Given the description of an element on the screen output the (x, y) to click on. 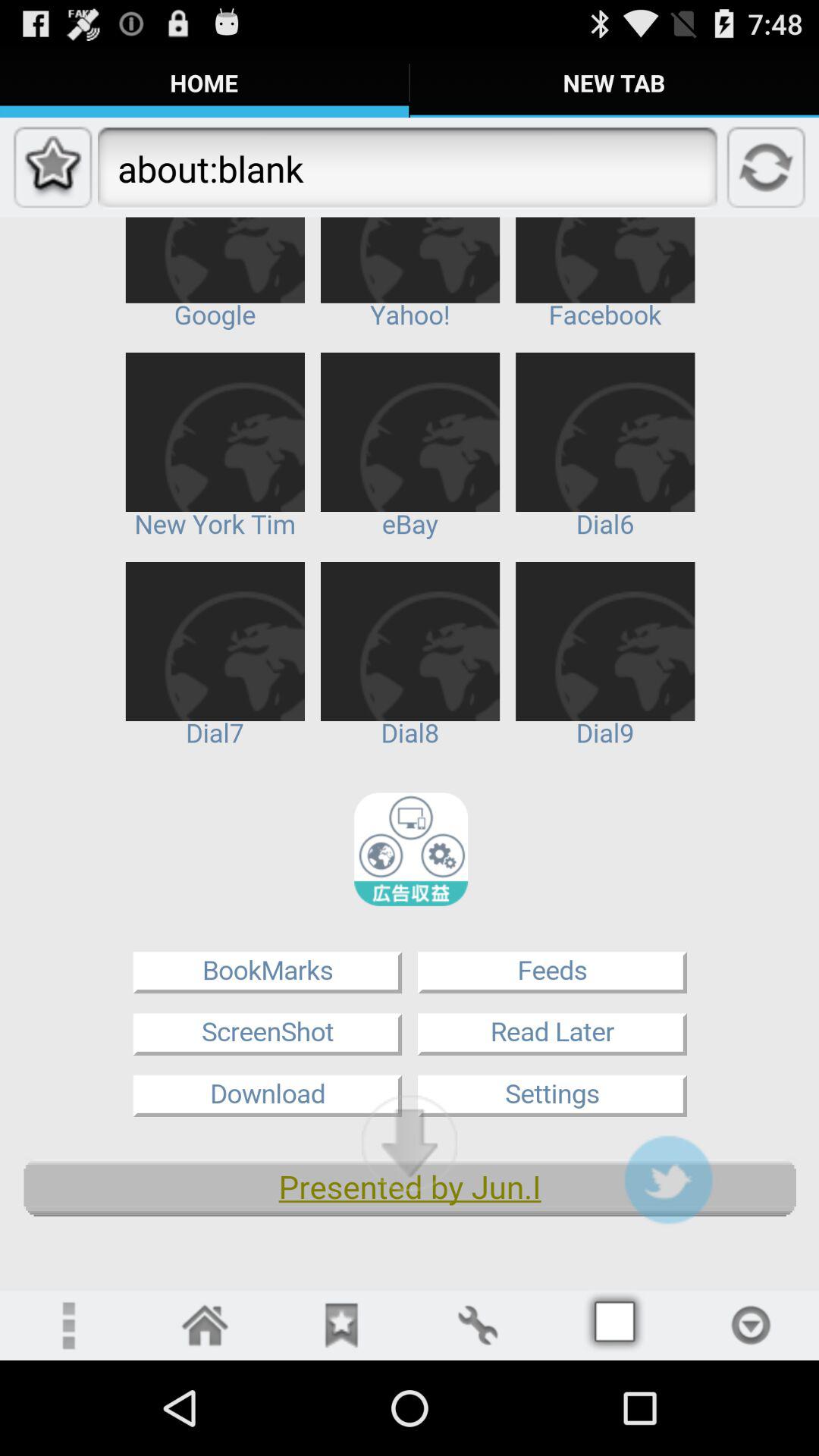
bookmark (341, 1325)
